Given the description of an element on the screen output the (x, y) to click on. 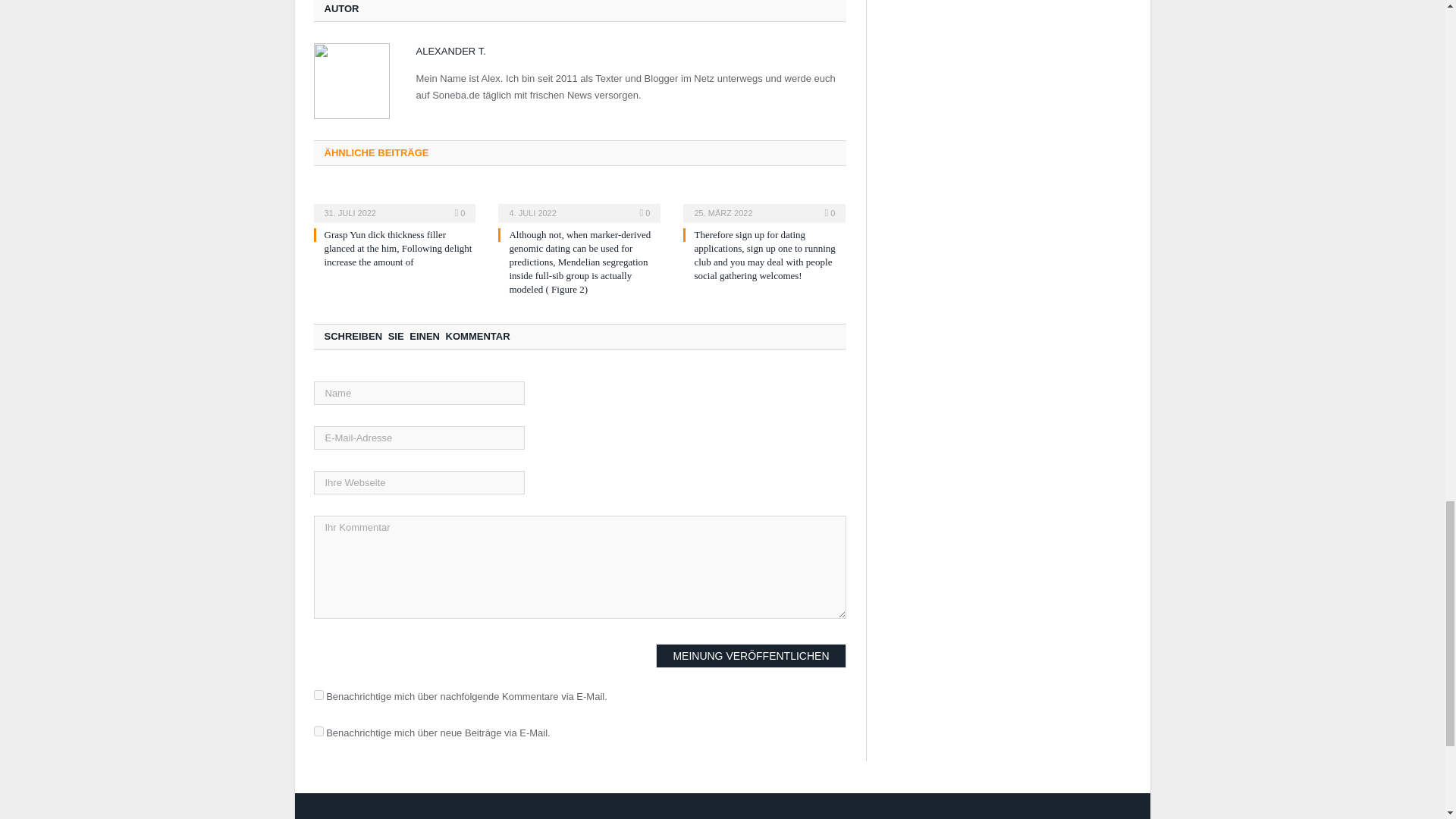
ALEXANDER T. (449, 50)
subscribe (318, 695)
subscribe (318, 731)
